Given the description of an element on the screen output the (x, y) to click on. 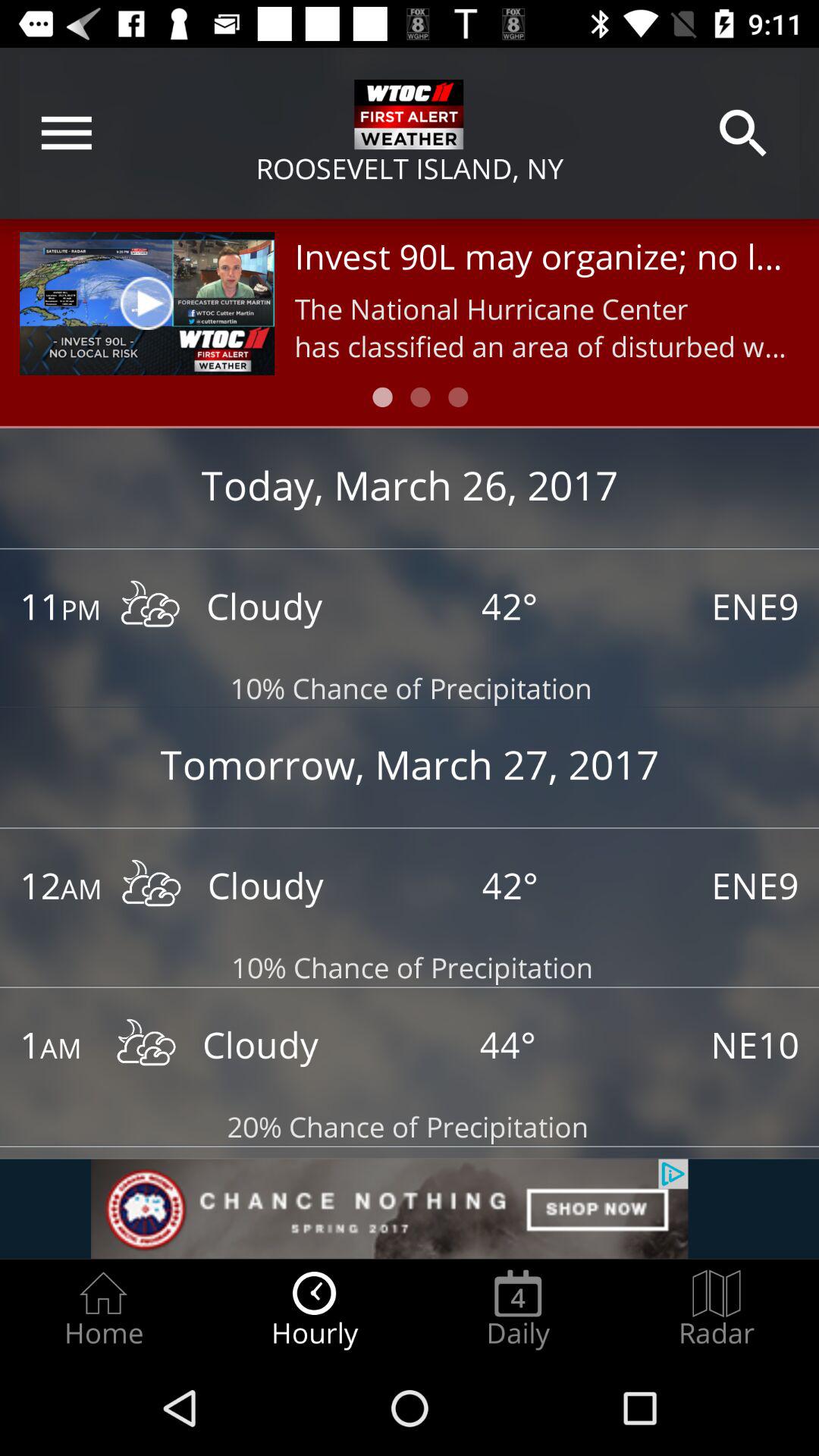
advertisement (409, 1208)
